Given the description of an element on the screen output the (x, y) to click on. 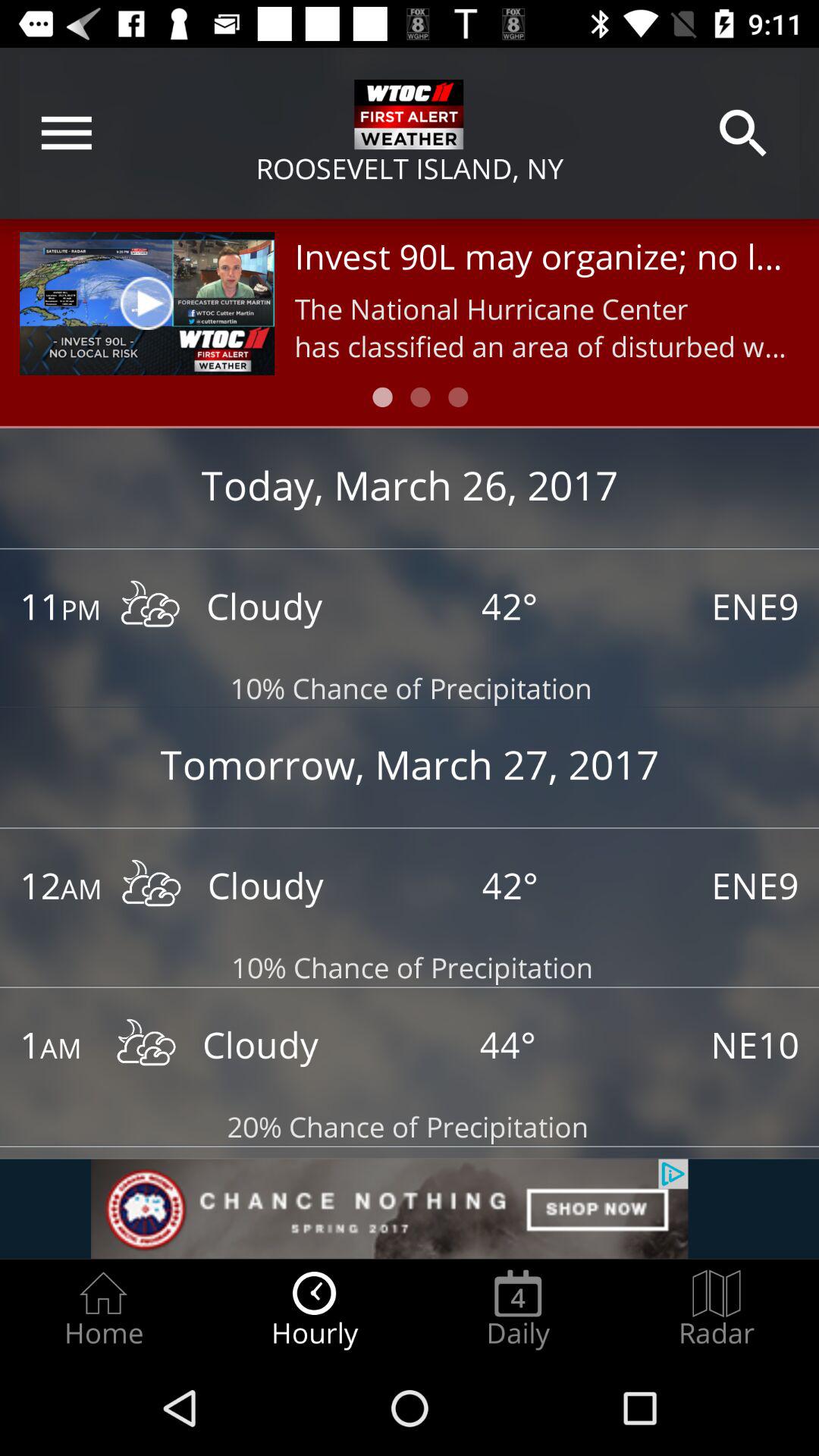
advertisement (409, 1208)
